Given the description of an element on the screen output the (x, y) to click on. 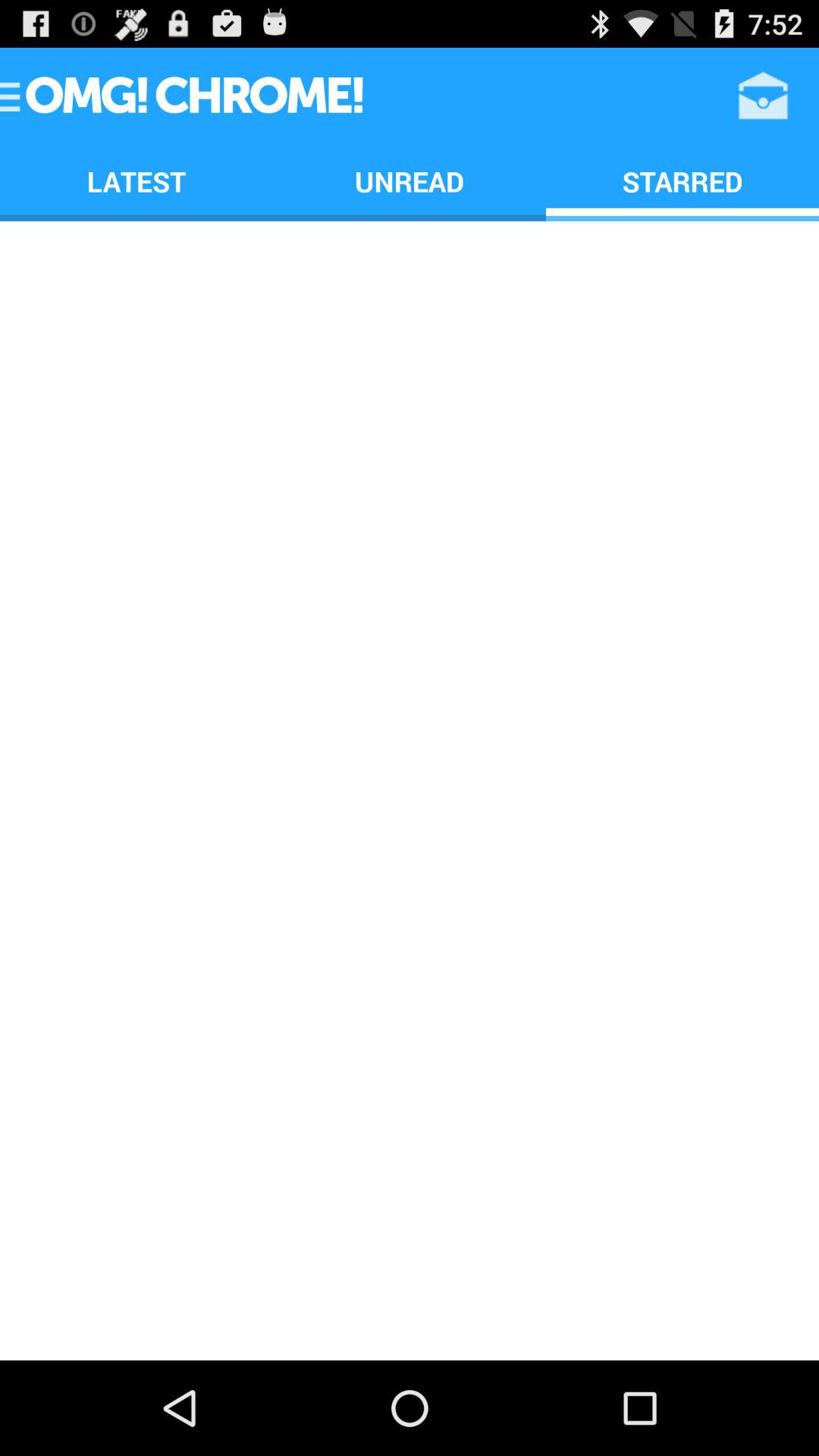
scroll to the unread item (409, 181)
